Given the description of an element on the screen output the (x, y) to click on. 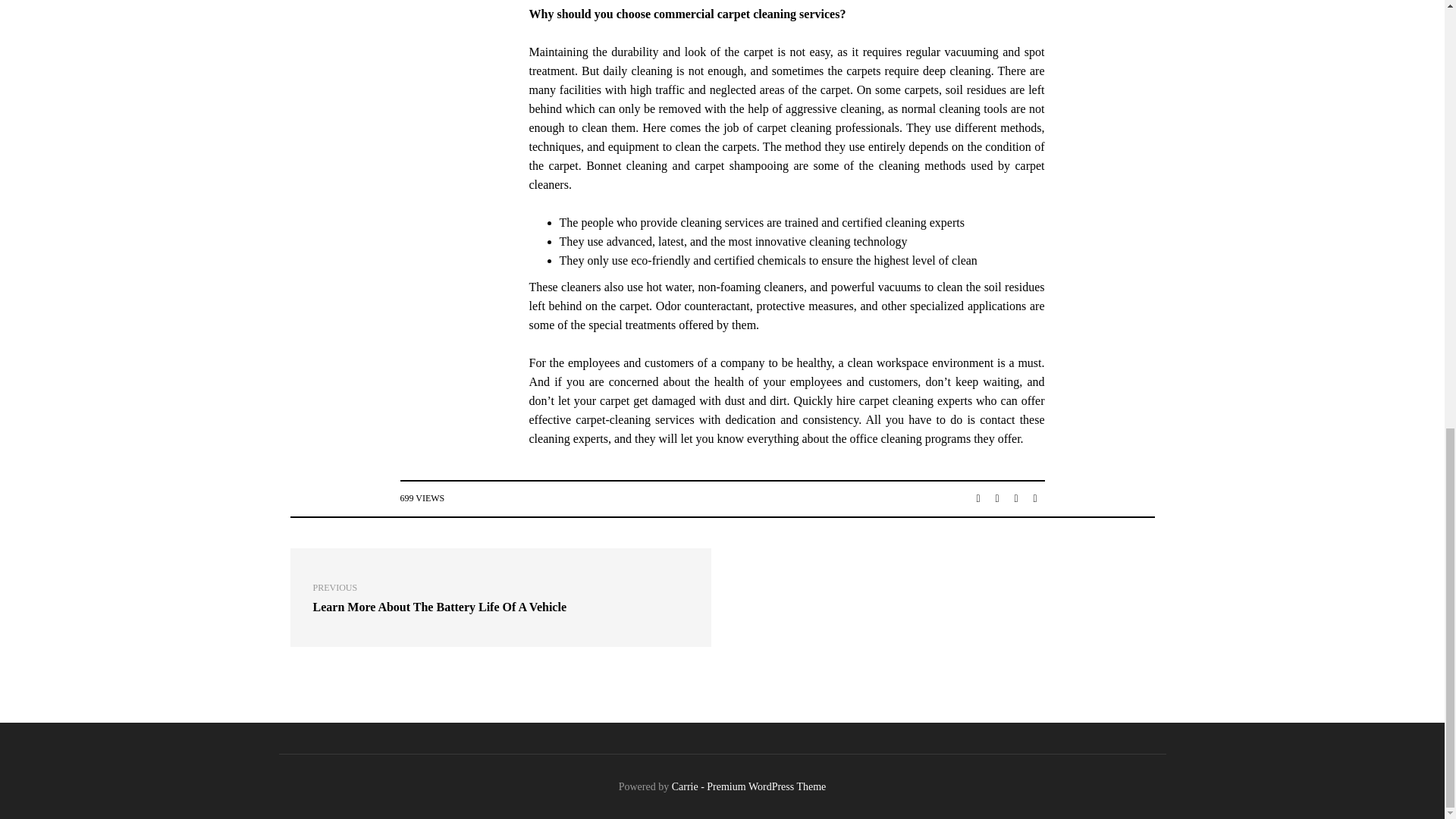
Share this (978, 498)
Share with Google Plus (1016, 498)
Pin this (1034, 498)
Carrie - Premium WordPress Theme (749, 786)
Tweet this (499, 597)
